Given the description of an element on the screen output the (x, y) to click on. 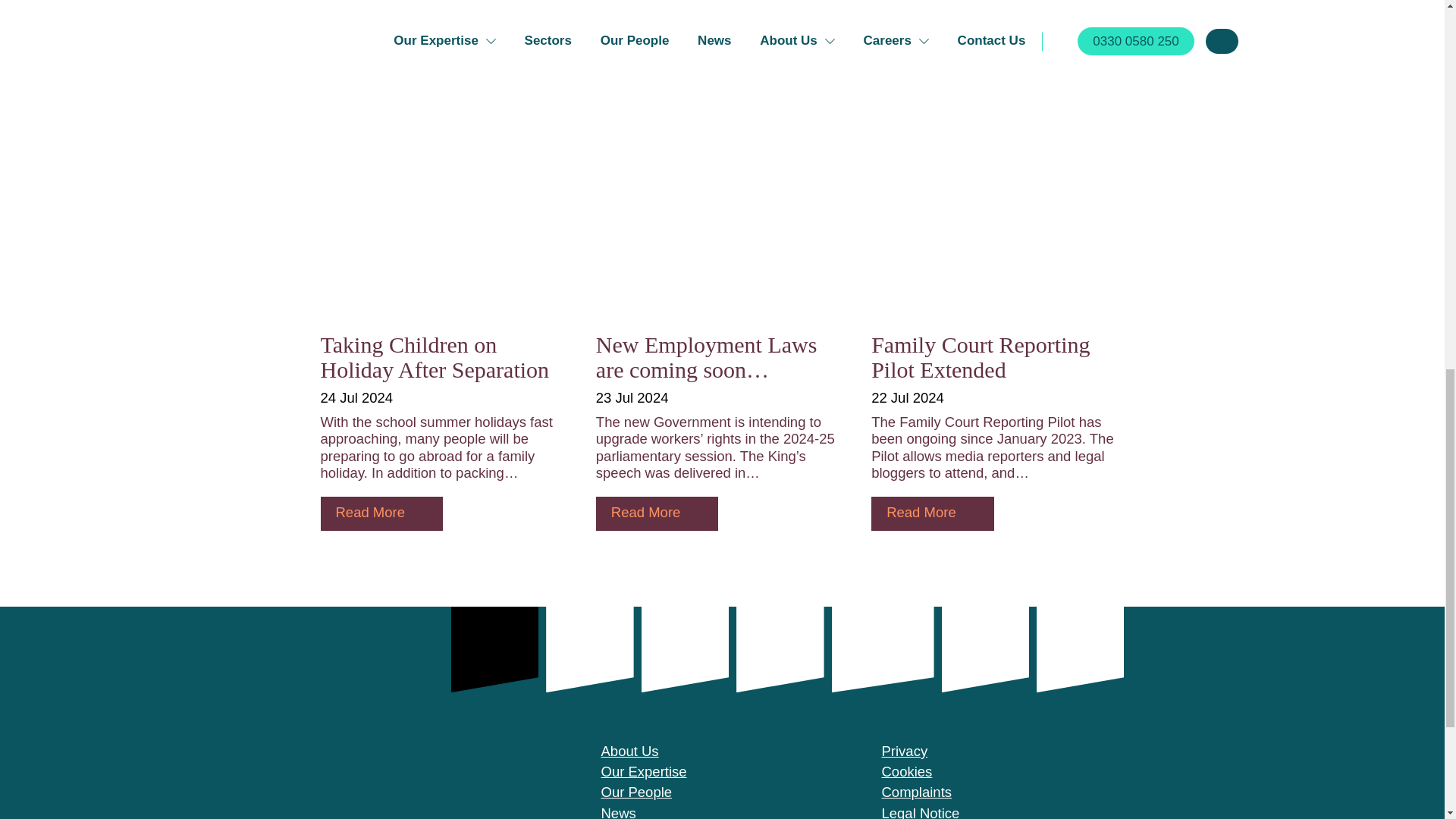
Read More (657, 513)
Read More (381, 513)
